Given the description of an element on the screen output the (x, y) to click on. 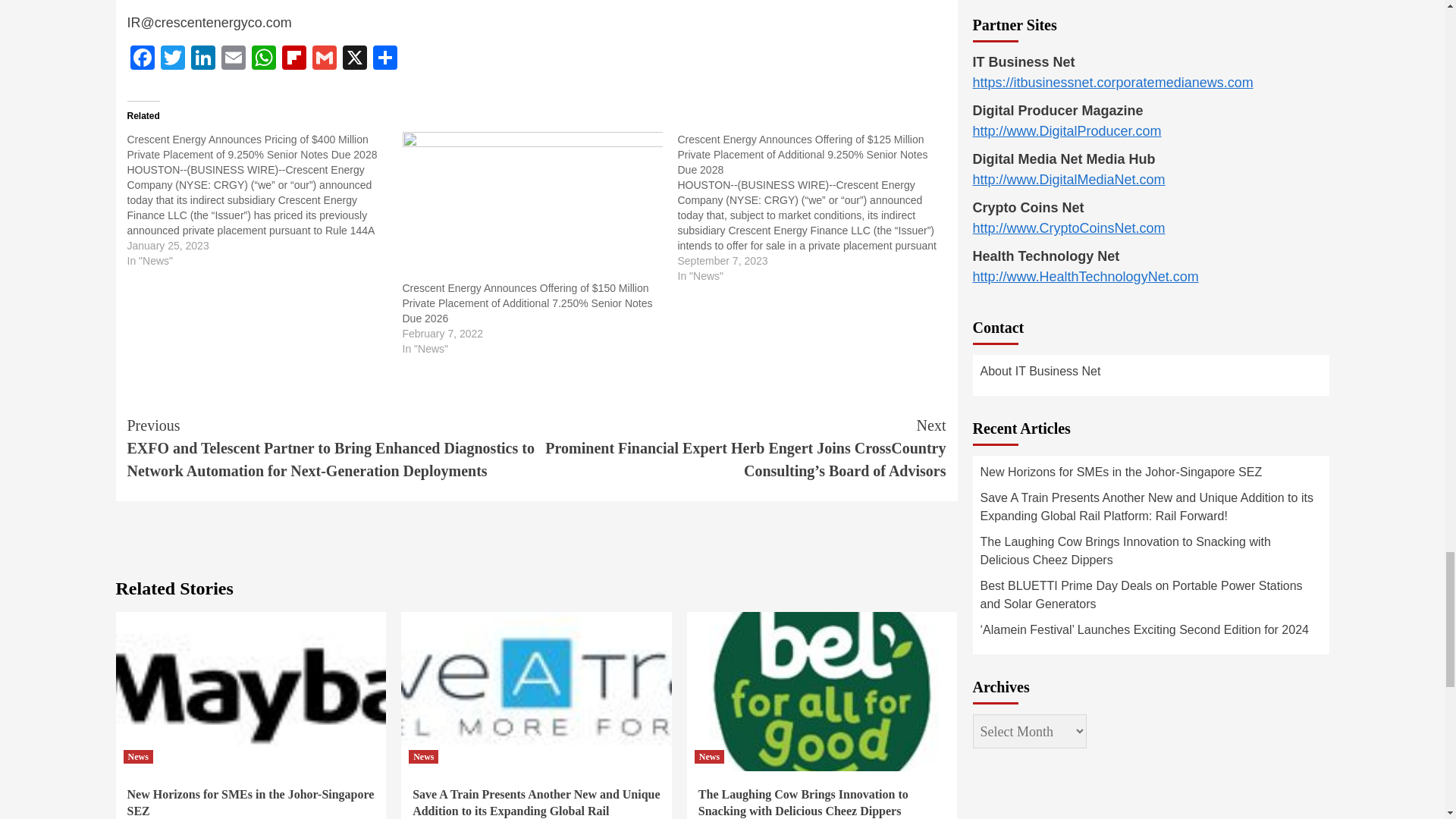
Flipboard (293, 59)
Email (233, 59)
WhatsApp (263, 59)
WhatsApp (263, 59)
Flipboard (293, 59)
LinkedIn (202, 59)
X (354, 59)
Gmail (323, 59)
Facebook (142, 59)
Twitter (172, 59)
Gmail (323, 59)
X (354, 59)
Twitter (172, 59)
LinkedIn (202, 59)
Facebook (142, 59)
